Given the description of an element on the screen output the (x, y) to click on. 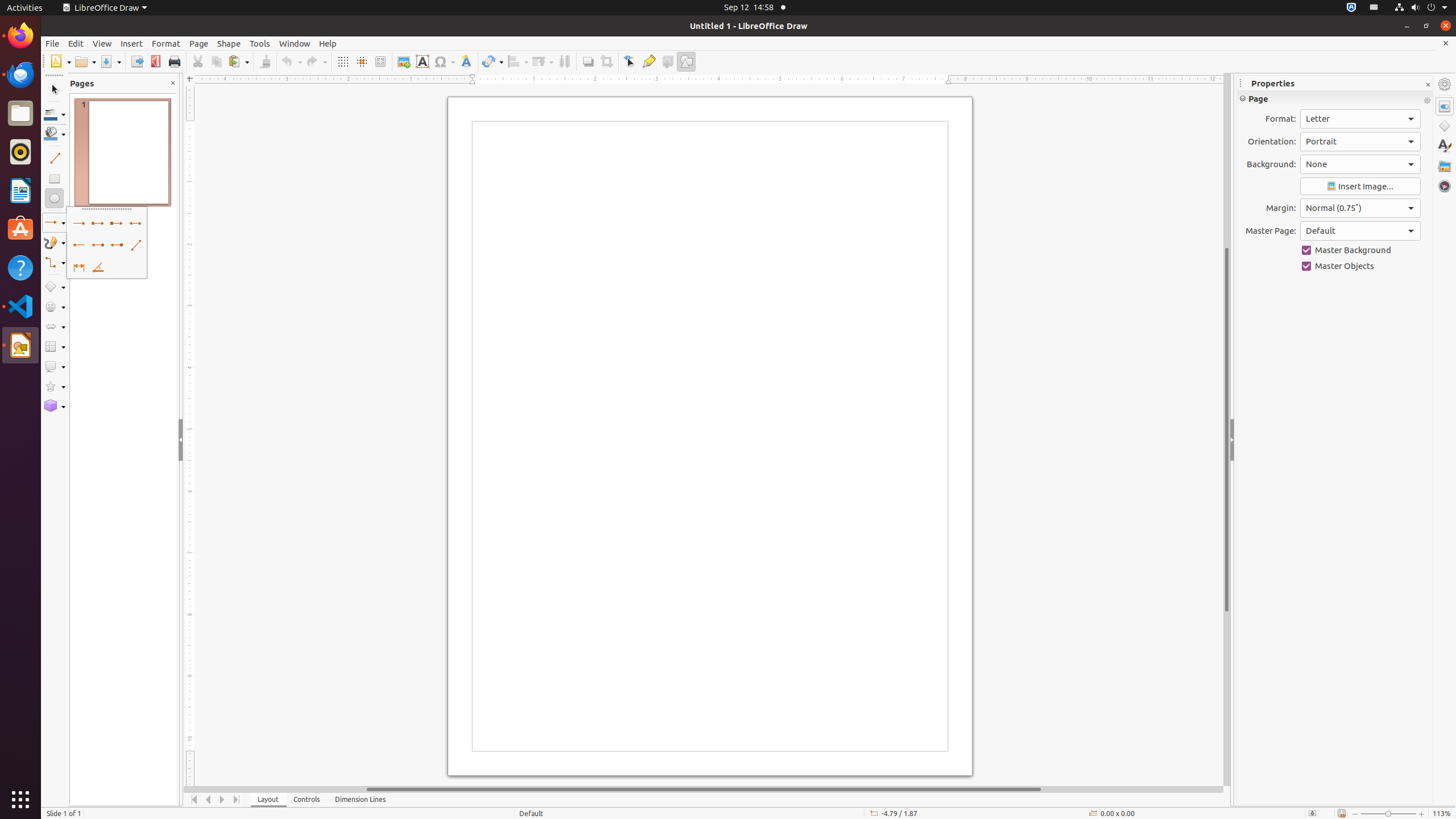
Zoom & Pan Element type: push-button (379, 61)
Redo Element type: push-button (315, 61)
Paste Element type: push-button (237, 61)
Print Element type: push-button (173, 61)
Margin: Element type: combo-box (1360, 207)
